Given the description of an element on the screen output the (x, y) to click on. 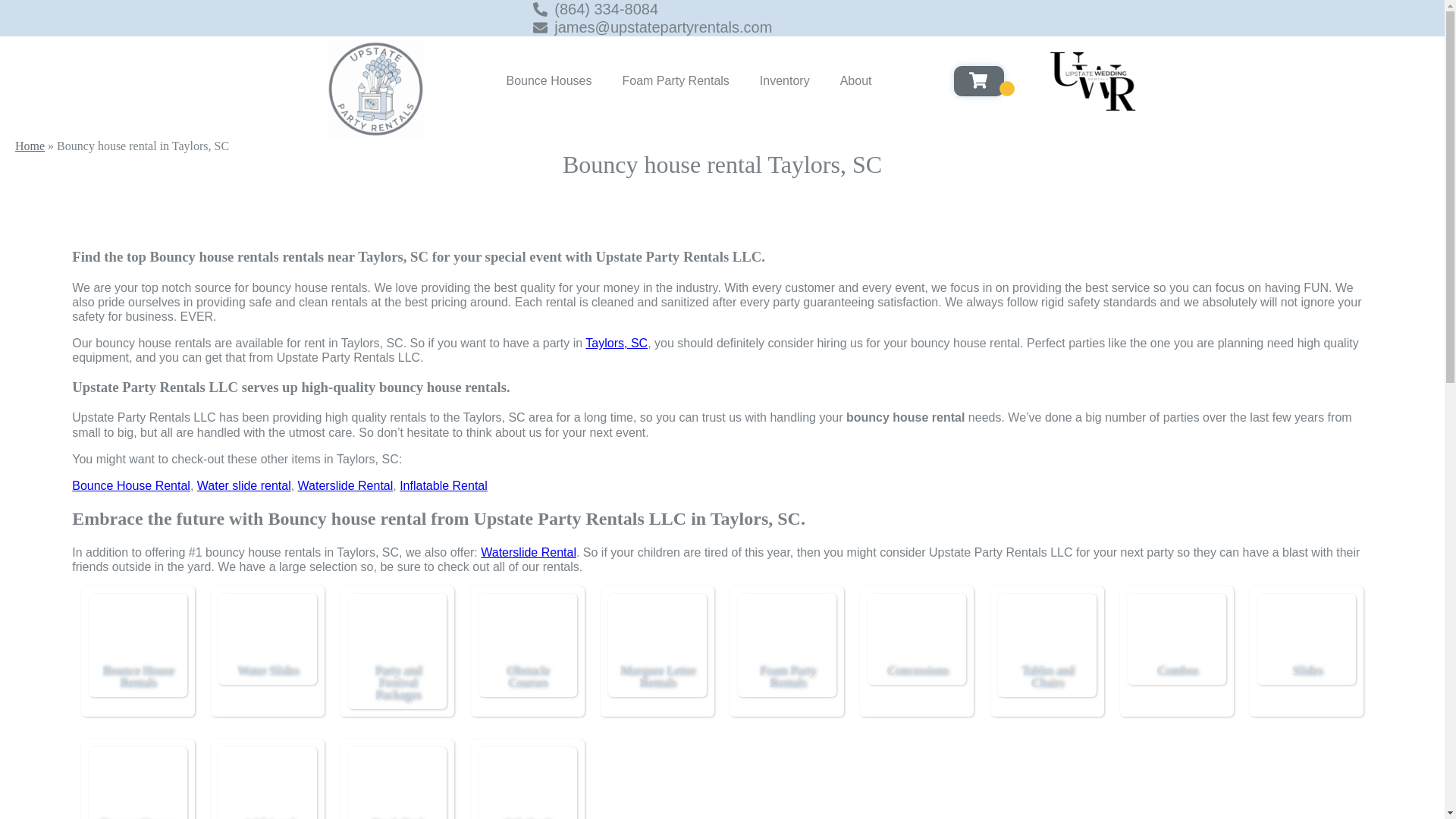
Gift Cards (527, 784)
Bounce House Rental (130, 485)
Concessions (916, 631)
Bounce Houses (549, 80)
Slides (1306, 631)
Water Slides (267, 631)
Bounce House Rentals (137, 677)
Water Slides (266, 671)
Marquee Letter Rentals (657, 631)
Party and Festival Packages (397, 683)
Water slide rental (243, 485)
About (855, 80)
Tables and Chairs (1046, 631)
Party and Festival Packages (397, 631)
Dunk Tank Rentals (397, 784)
